Given the description of an element on the screen output the (x, y) to click on. 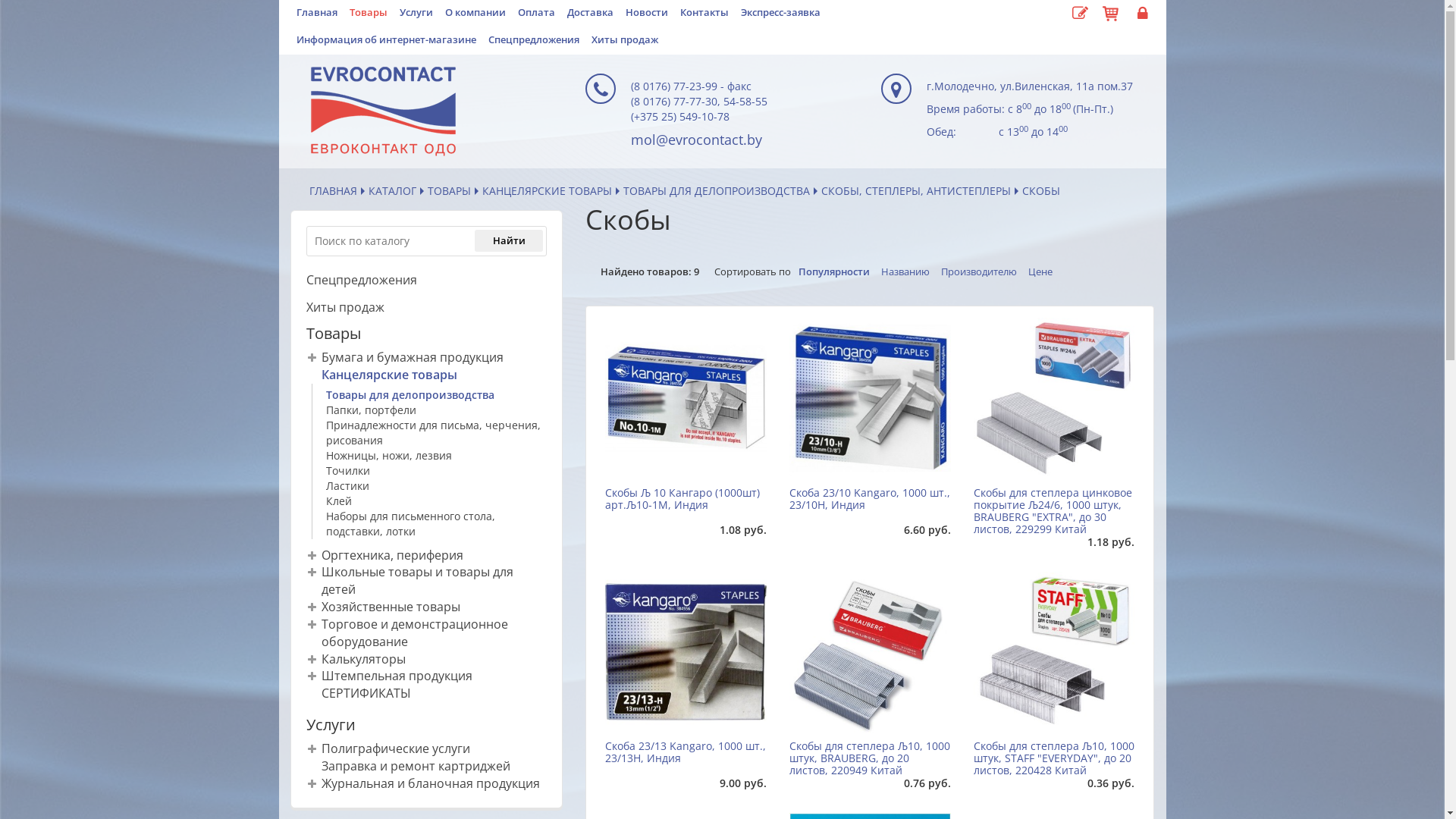
mol@evrocontact.by Element type: text (696, 139)
